Given the description of an element on the screen output the (x, y) to click on. 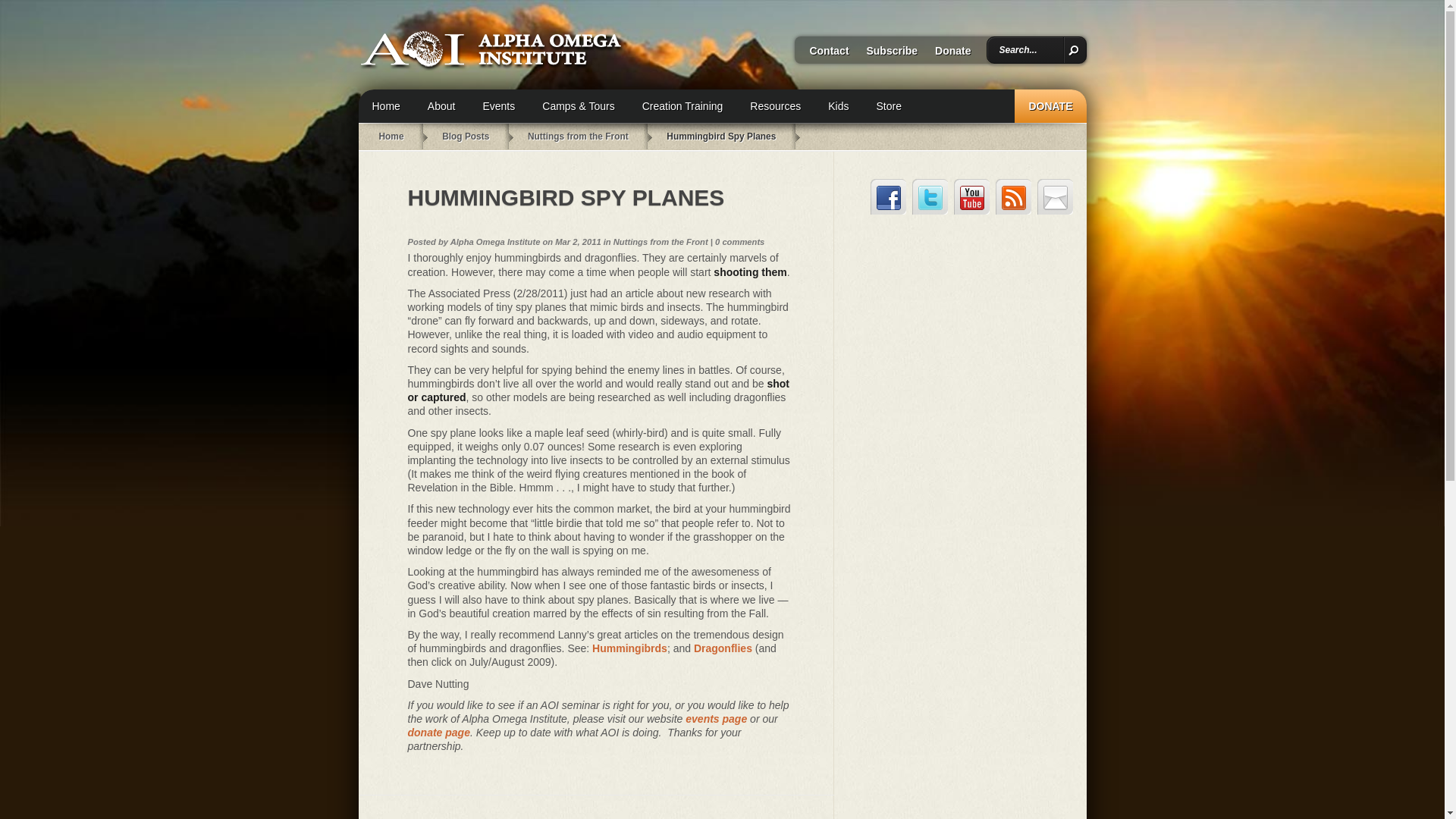
Join Us on Facebook! (887, 196)
Search... (1029, 49)
Go to the Blog Posts category archives. (465, 136)
RSS (1012, 196)
Posts by Alpha Omega Institute (494, 241)
Go to the Nuttings from the Front category archives. (577, 136)
About (440, 105)
Search... (1029, 49)
Follow Us on Twitter! (929, 196)
YouTube Channel (971, 196)
Go to AOI's Home Page (391, 136)
Events (498, 105)
Contact Us (1054, 196)
Subscribe (884, 54)
Contact (821, 54)
